Given the description of an element on the screen output the (x, y) to click on. 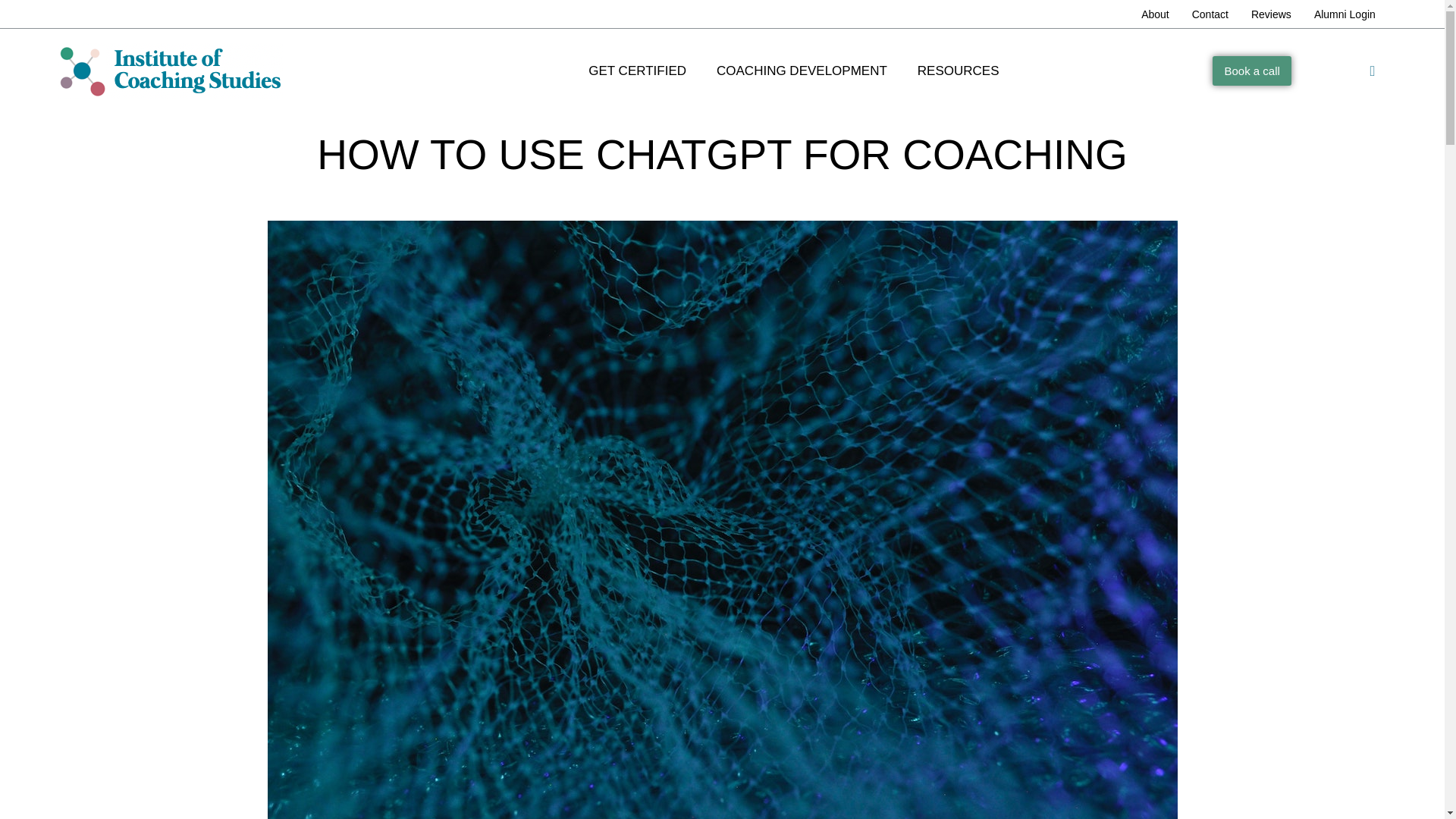
COACHING DEVELOPMENT (801, 70)
About (1154, 15)
RESOURCES (958, 70)
Reviews (1271, 15)
Contact (1210, 15)
GET CERTIFIED (637, 70)
Alumni Login (1345, 15)
